Given the description of an element on the screen output the (x, y) to click on. 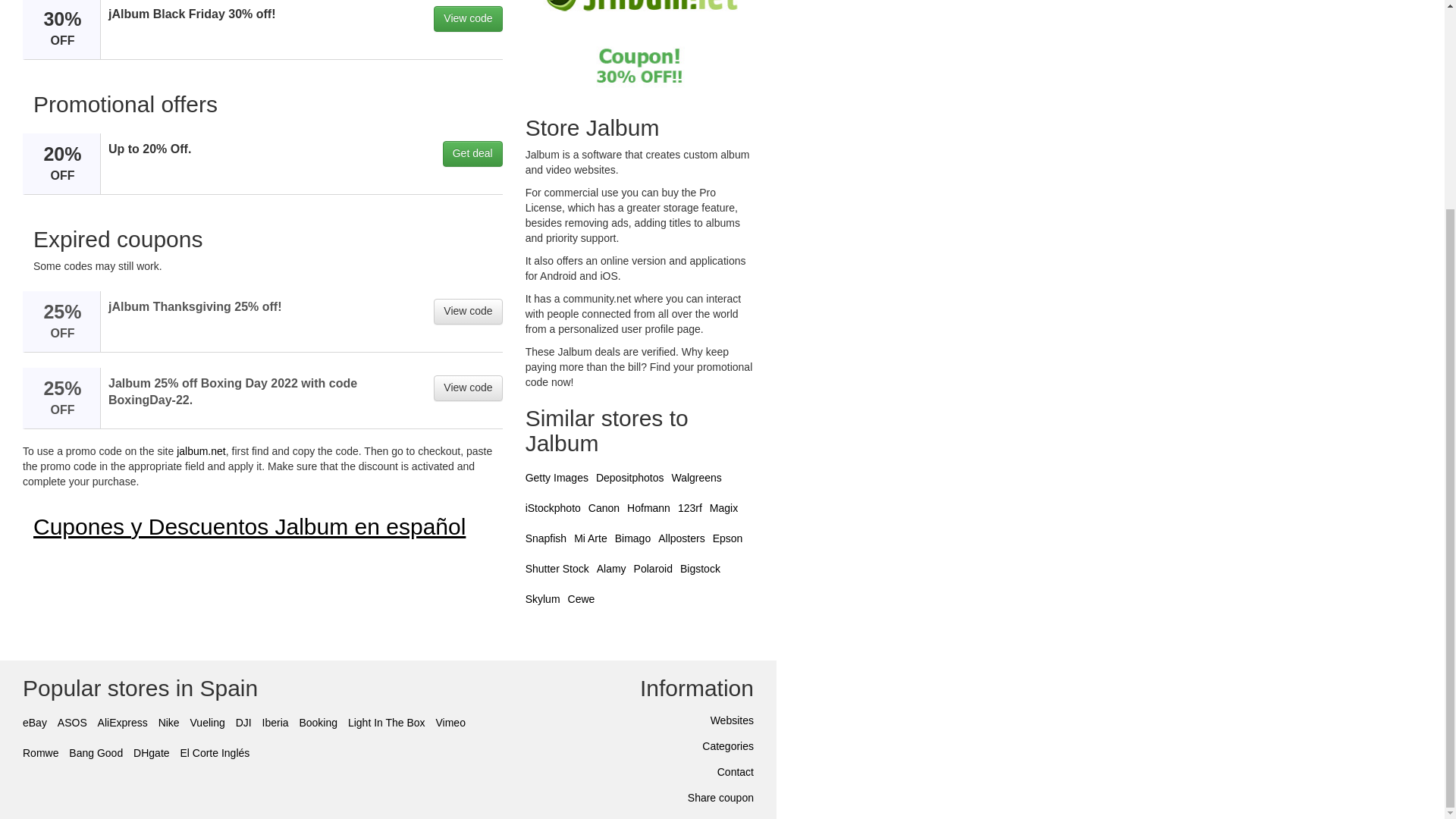
Epson (727, 538)
Skylum (542, 598)
Magix (724, 508)
Discount coupon Jalbum (639, 52)
ASOS (72, 722)
Bigstock (699, 568)
Walgreens (695, 477)
Iberia (275, 722)
View code (467, 311)
View code (467, 388)
